Given the description of an element on the screen output the (x, y) to click on. 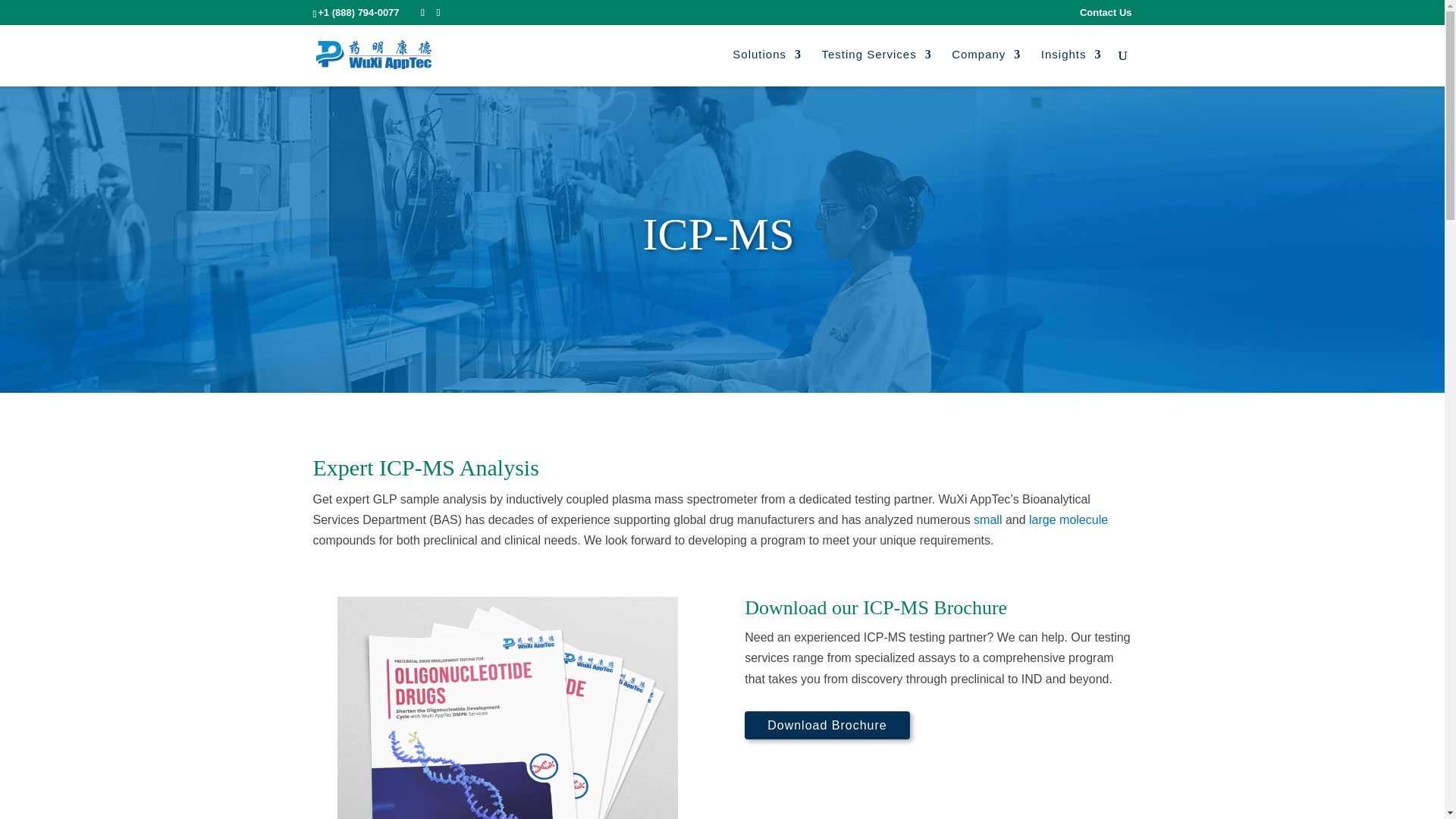
Solutions (767, 67)
Contact Us (1106, 16)
Testing Services (876, 67)
Oligo Brochure (507, 708)
